Given the description of an element on the screen output the (x, y) to click on. 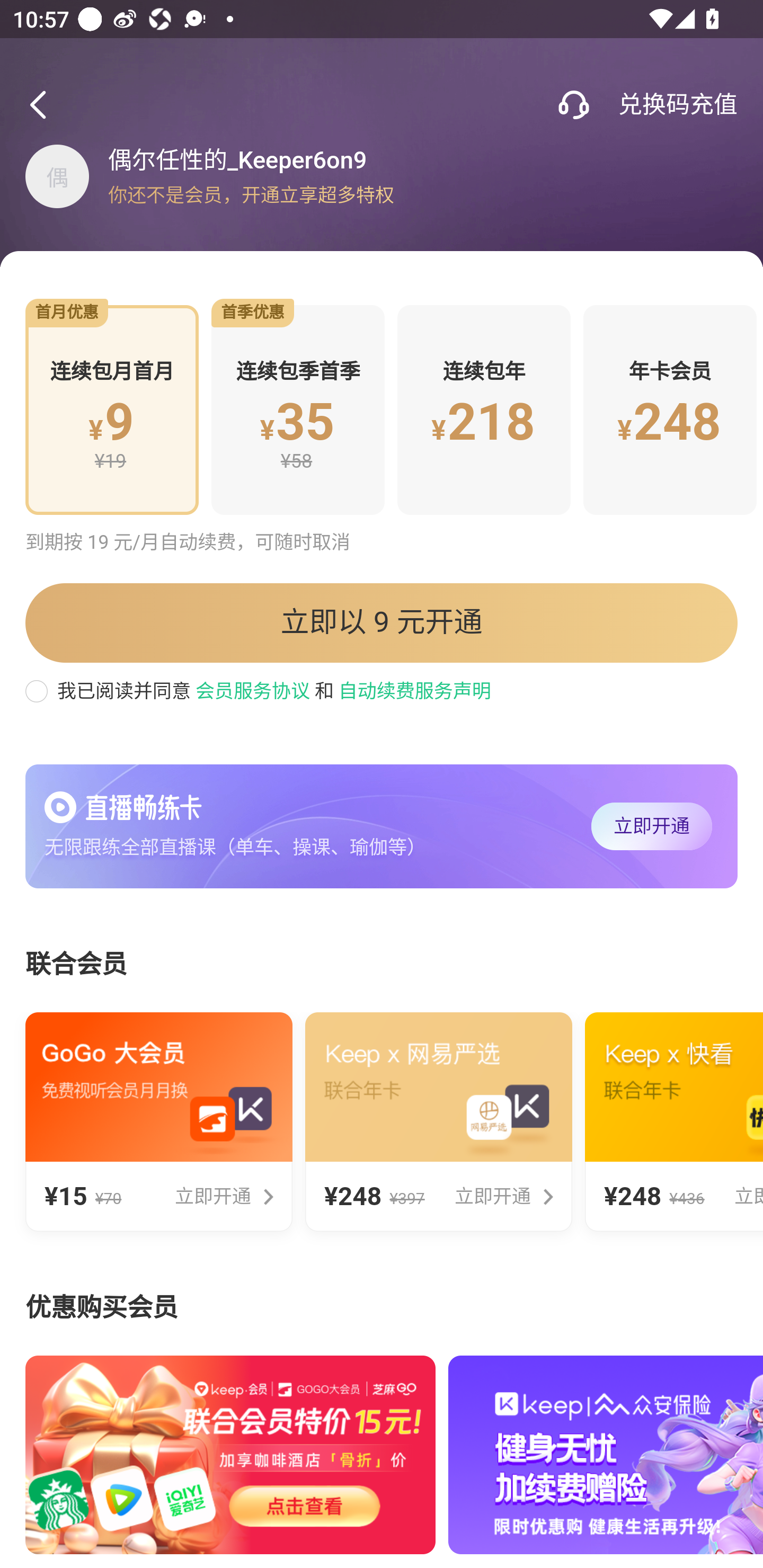
1 (44, 104)
1 (572, 104)
兑换码充值 (676, 104)
偶 偶尔任性的_Keeper6on9 你还不是会员，开通立享超多特权 (381, 176)
连续包月首月 ¥9 ¥19 首月优惠 (111, 409)
连续包季首季 ¥35 ¥58 首季优惠 (297, 409)
连续包年 ¥218 (483, 409)
年卡会员 ¥248 (669, 409)
立即以 9 元开通 (381, 623)
会员服务协议 (251, 691)
自动续费服务声明 (414, 691)
1 无限跟练全部直播课（单车、操课、瑜伽等） 立即开通 (381, 827)
1 (123, 807)
¥15 ¥70 立即开通 (158, 1121)
¥248 ¥397 立即开通 (438, 1121)
¥248 ¥436 立即开通 (674, 1121)
